Given the description of an element on the screen output the (x, y) to click on. 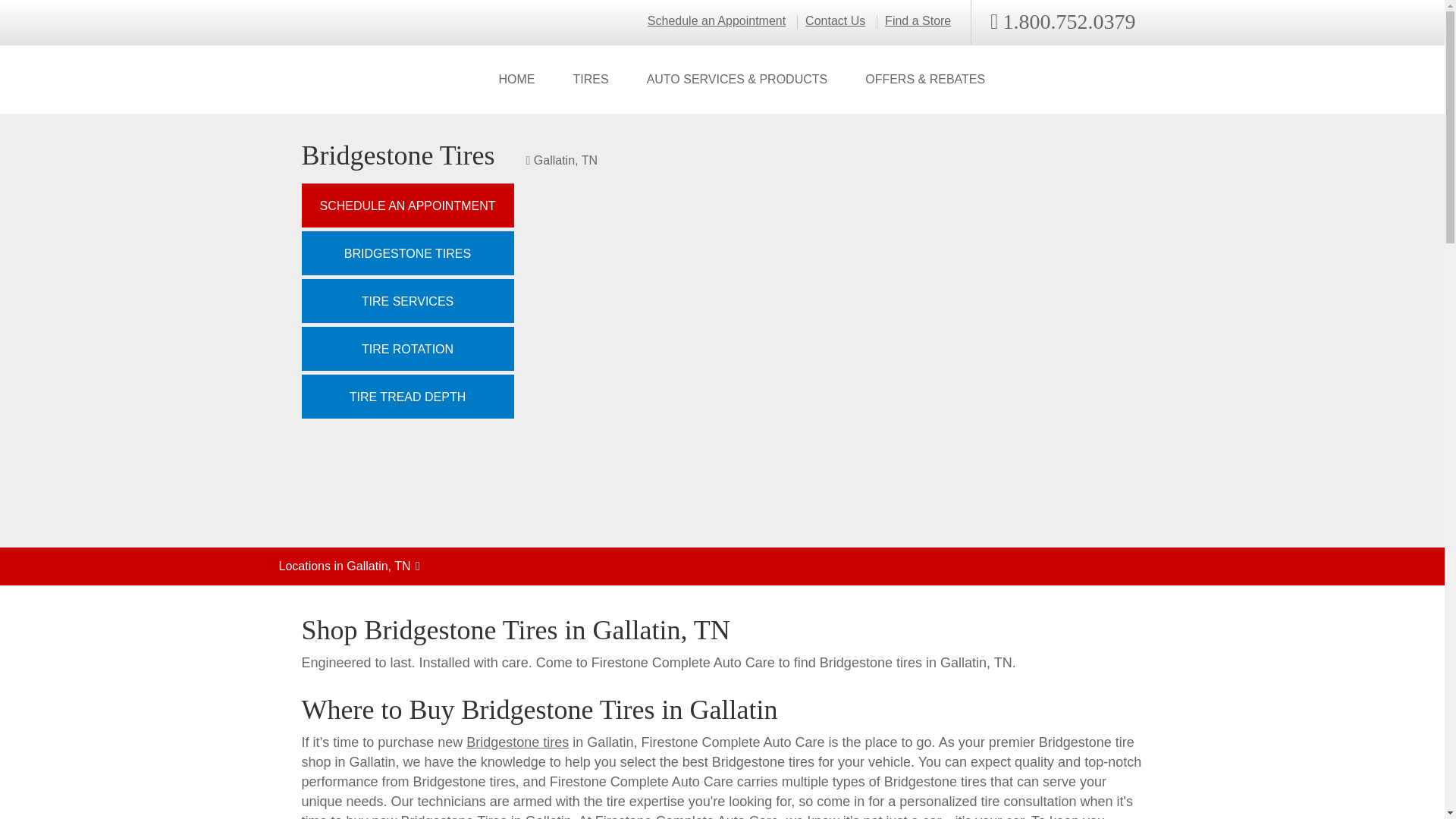
HOME (516, 79)
Schedule an Appointment (716, 20)
BRIDGESTONE TIRES (407, 252)
Firestone Complete Auto Care (365, 80)
Contact Us (834, 20)
TIRE ROTATION (407, 348)
TIRE SERVICES (407, 300)
TIRE TREAD DEPTH (407, 396)
Find a Store (918, 20)
Locations in Gallatin, TN (722, 566)
TIRES (590, 79)
SCHEDULE AN APPOINTMENT (407, 205)
1.800.752.0379 (1062, 22)
